Given the description of an element on the screen output the (x, y) to click on. 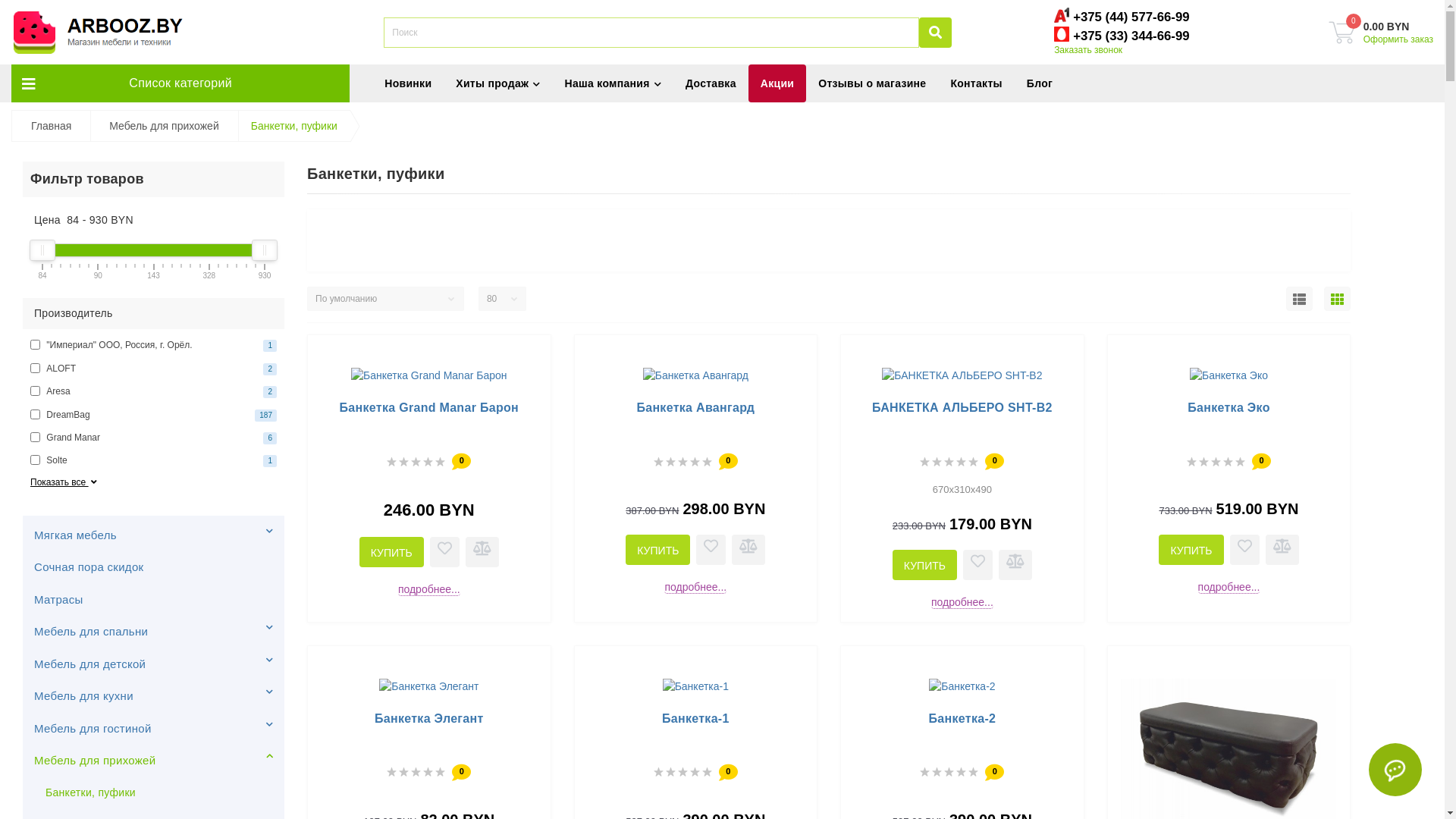
+375 (44) 577-66-99 Element type: text (1131, 16)
0 Element type: text (1341, 32)
+375 (33) 344-66-99 Element type: text (1131, 35)
